Given the description of an element on the screen output the (x, y) to click on. 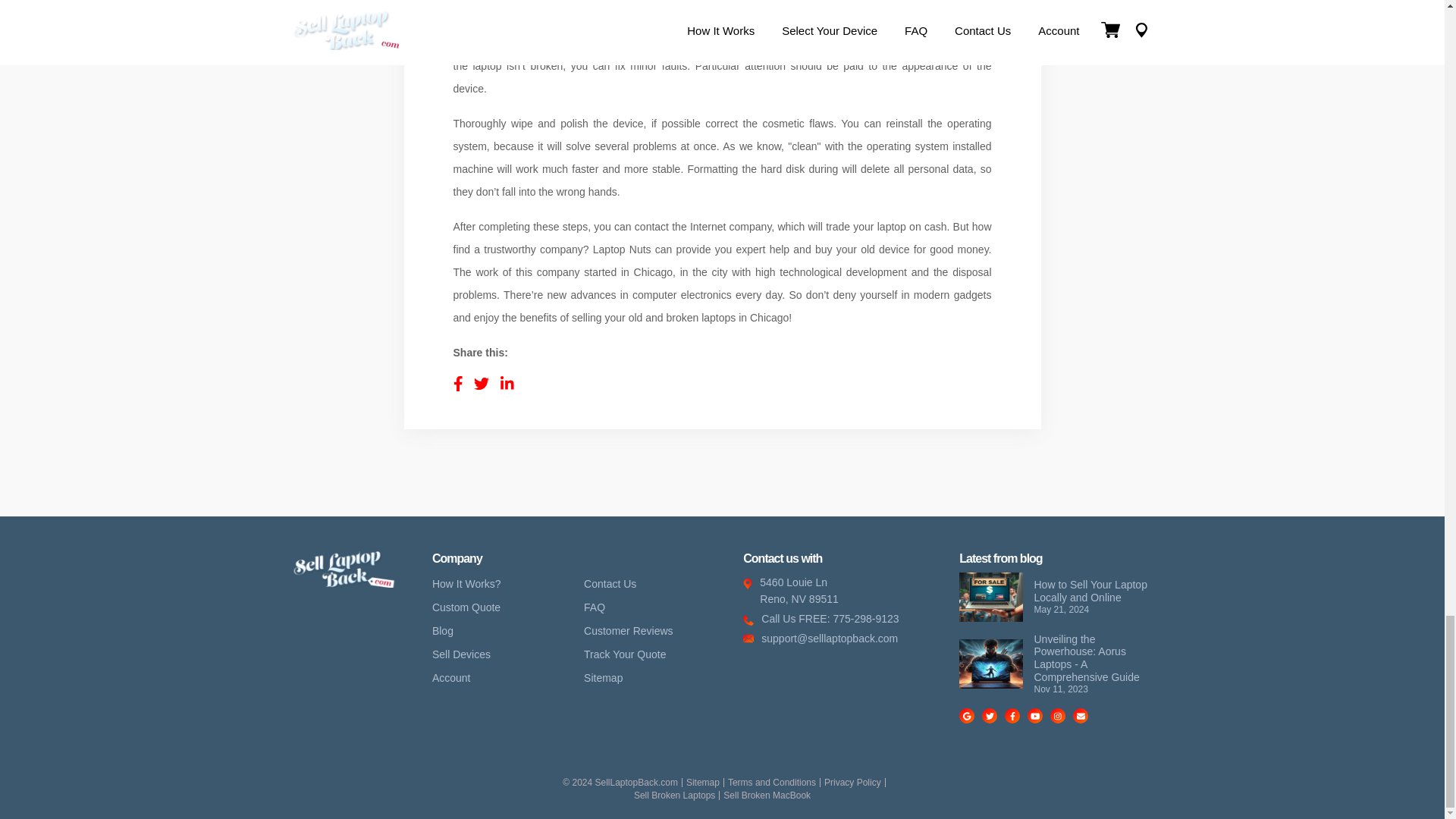
sellbroke.com (342, 583)
sell your old laptop (661, 20)
Sell Devices (464, 654)
How It Works? (470, 584)
FAQ (597, 607)
Blog (446, 630)
Contact Us (613, 584)
Account (455, 678)
Call Us FREE: 775-298-9123 (847, 618)
Track Your Quote (847, 590)
Sitemap (627, 654)
Customer Reviews (606, 678)
Custom Quote (631, 630)
